Given the description of an element on the screen output the (x, y) to click on. 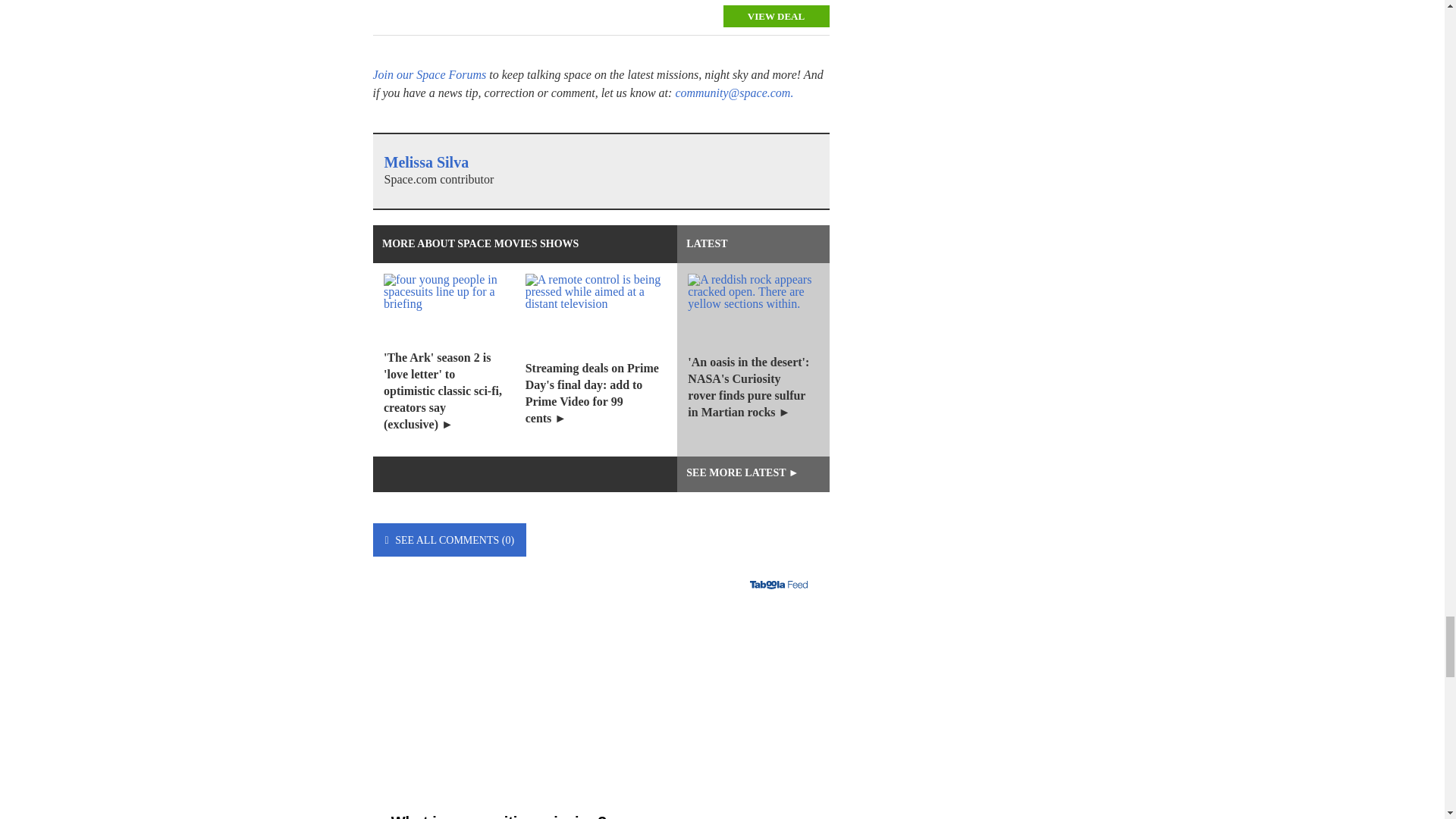
What is your writing missing? (600, 719)
